Given the description of an element on the screen output the (x, y) to click on. 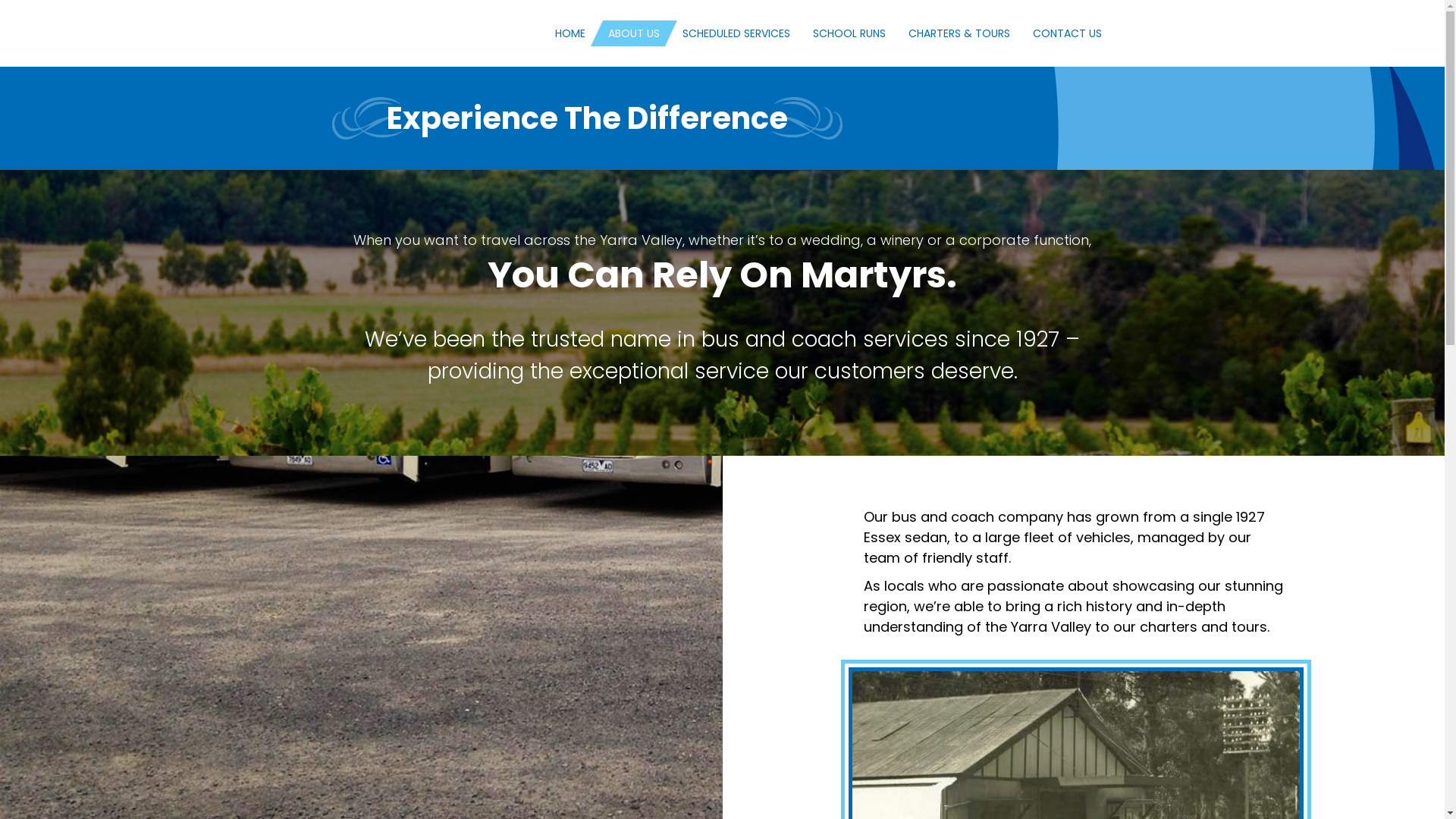
SCHOOL RUNS Element type: text (843, 33)
SCHEDULED SERVICES Element type: text (730, 33)
Martyrs-Animated-Logo Element type: hover (397, 33)
CHARTERS & TOURS Element type: text (953, 33)
CONTACT US Element type: text (1061, 33)
HOME Element type: text (563, 33)
ABOUT US Element type: text (627, 33)
